Given the description of an element on the screen output the (x, y) to click on. 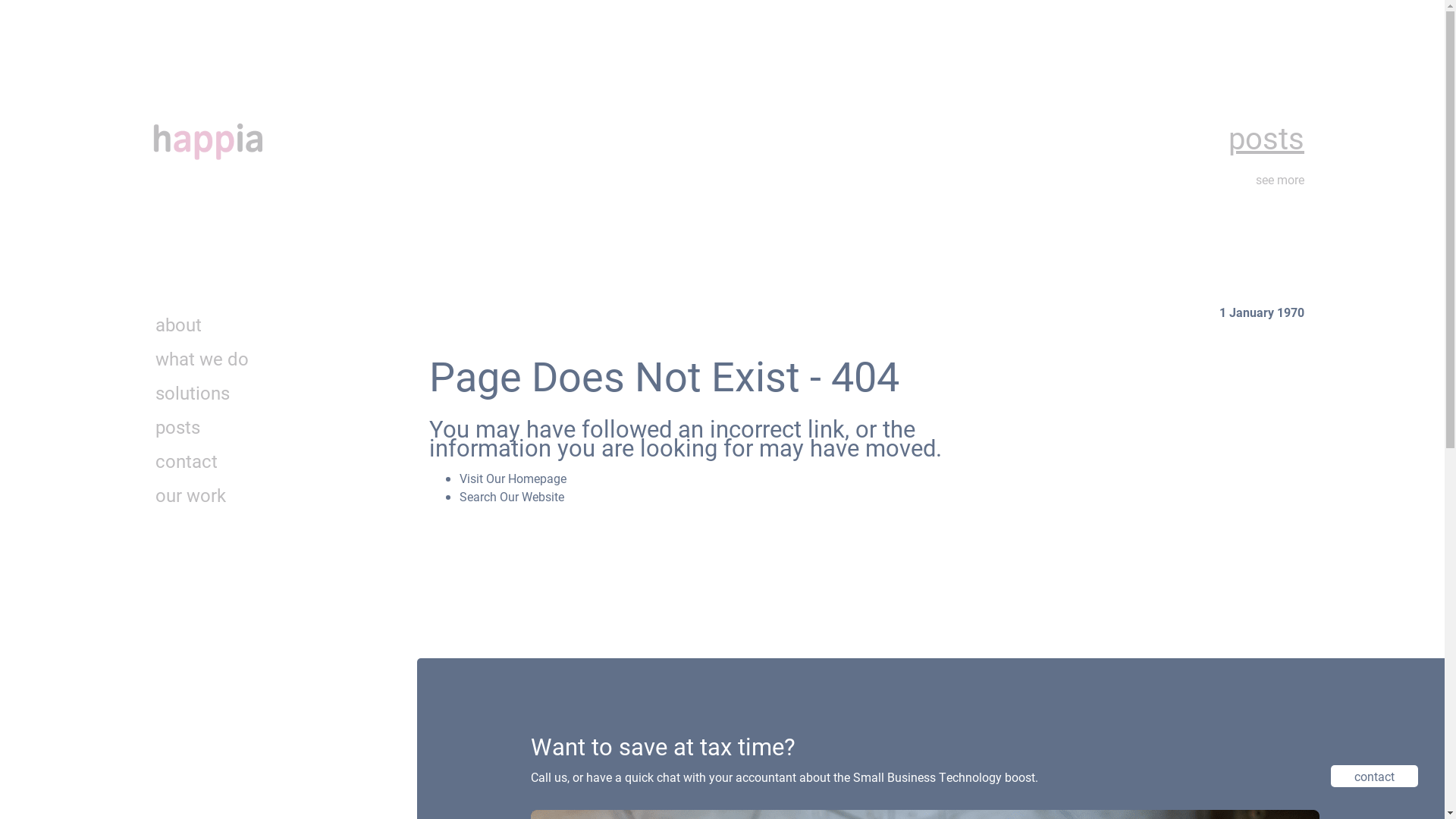
Visit Our Homepage Element type: text (512, 478)
contact Element type: text (1374, 776)
about Element type: text (178, 324)
Search Our Website Element type: text (511, 496)
what we do Element type: text (201, 358)
posts Element type: text (177, 426)
our work Element type: text (190, 495)
contact Element type: text (1374, 776)
contact Element type: text (186, 460)
see more Element type: text (1279, 179)
solutions Element type: text (192, 392)
